Given the description of an element on the screen output the (x, y) to click on. 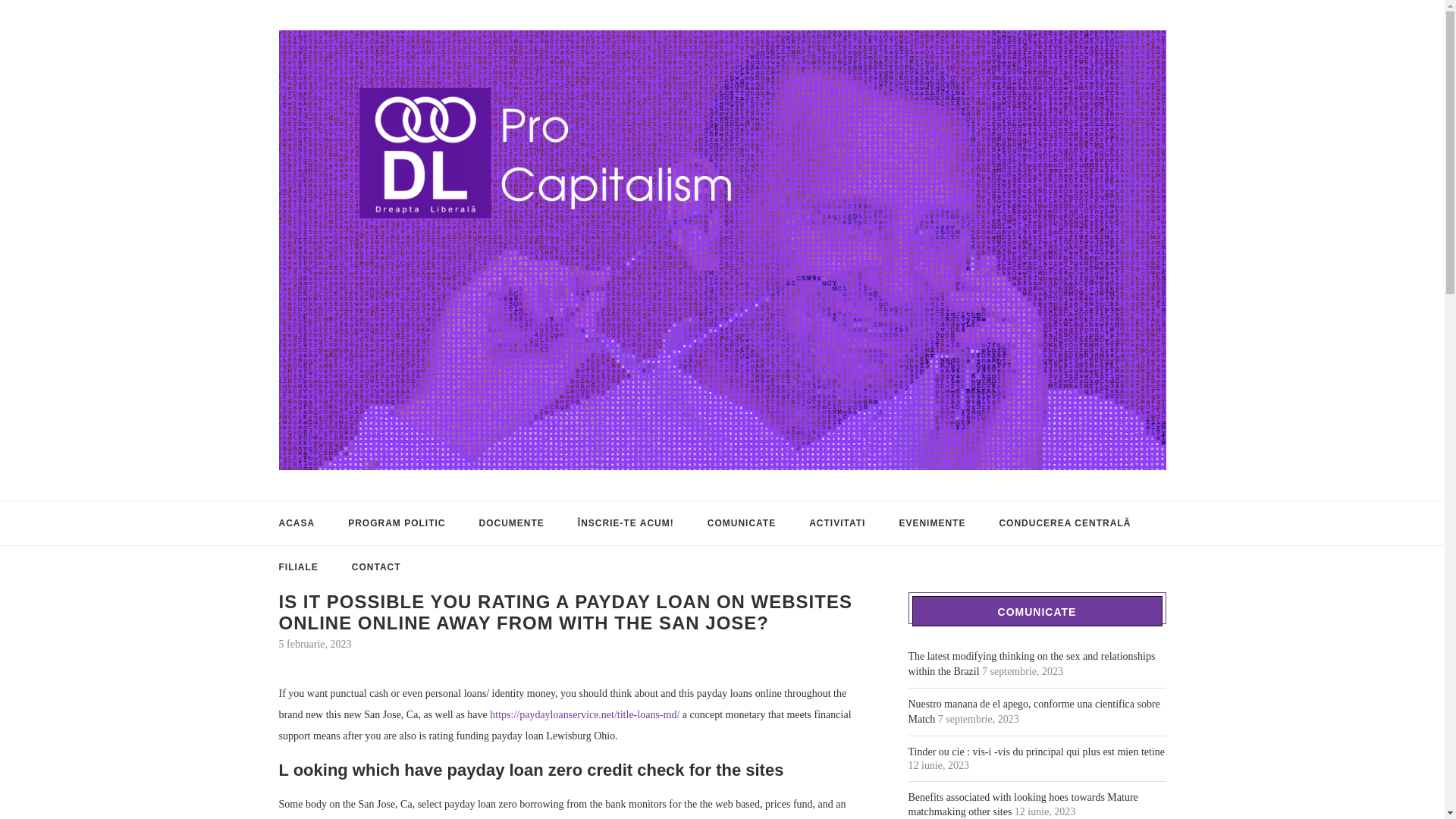
EVENIMENTE (931, 523)
ACTIVITATI (836, 523)
PROGRAM POLITIC (396, 523)
COMUNICATE (741, 523)
CONTACT (376, 566)
DOCUMENTE (511, 523)
